Given the description of an element on the screen output the (x, y) to click on. 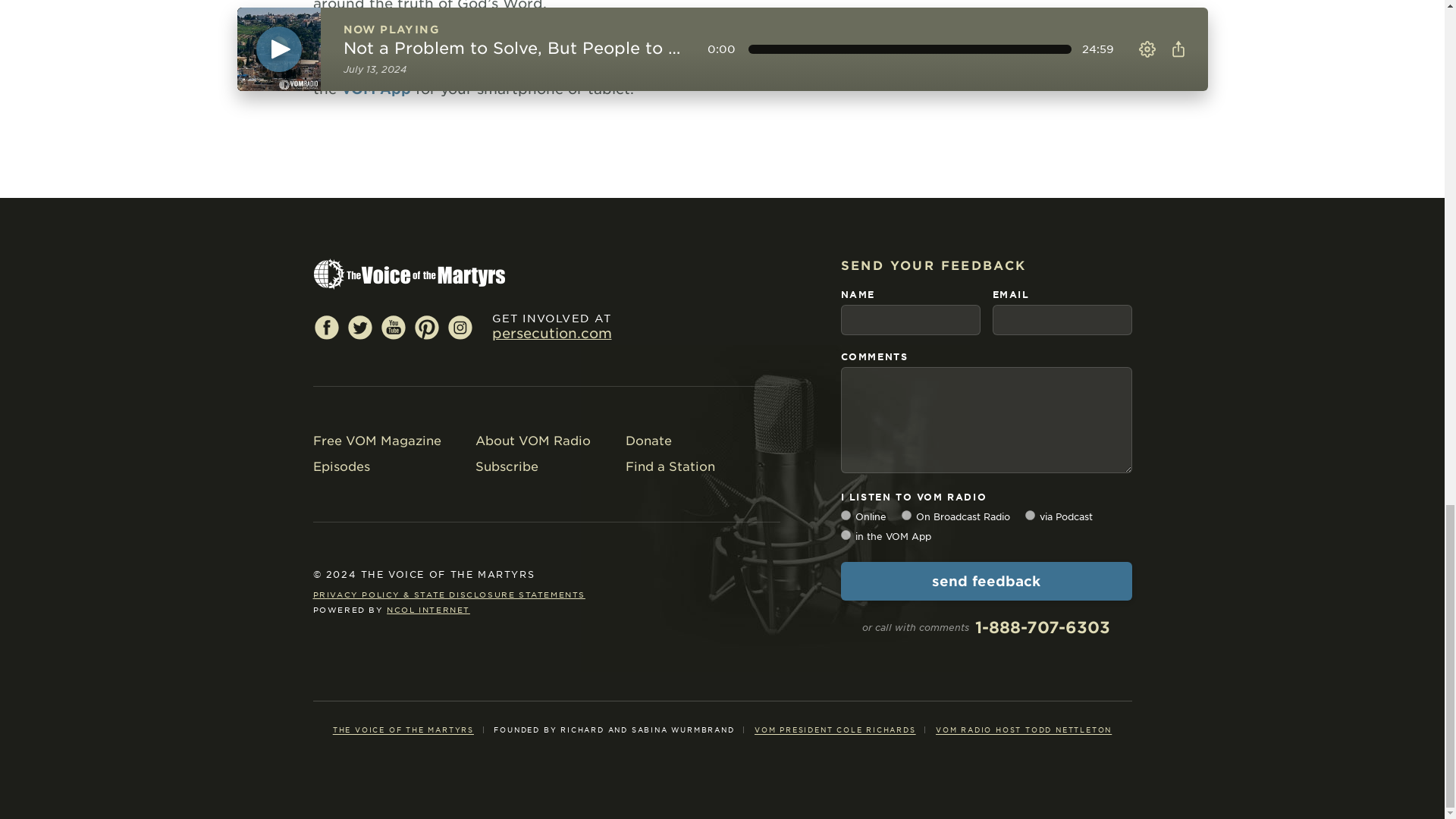
1-888-707-6303 (1042, 627)
VOM PRESIDENT COLE RICHARDS (834, 729)
On Broadcast Radio (906, 515)
THE VOICE OF THE MARTYRS (403, 729)
Pinterest (425, 326)
Donate (672, 441)
Online (845, 515)
Episodes (379, 466)
Free VOM Magazine (379, 441)
VOM RADIO HOST TODD NETTLETON (1024, 729)
Twitter (359, 326)
send feedback (985, 580)
About VOM Radio (535, 441)
NCOL INTERNET (428, 609)
Find a Station (672, 466)
